Given the description of an element on the screen output the (x, y) to click on. 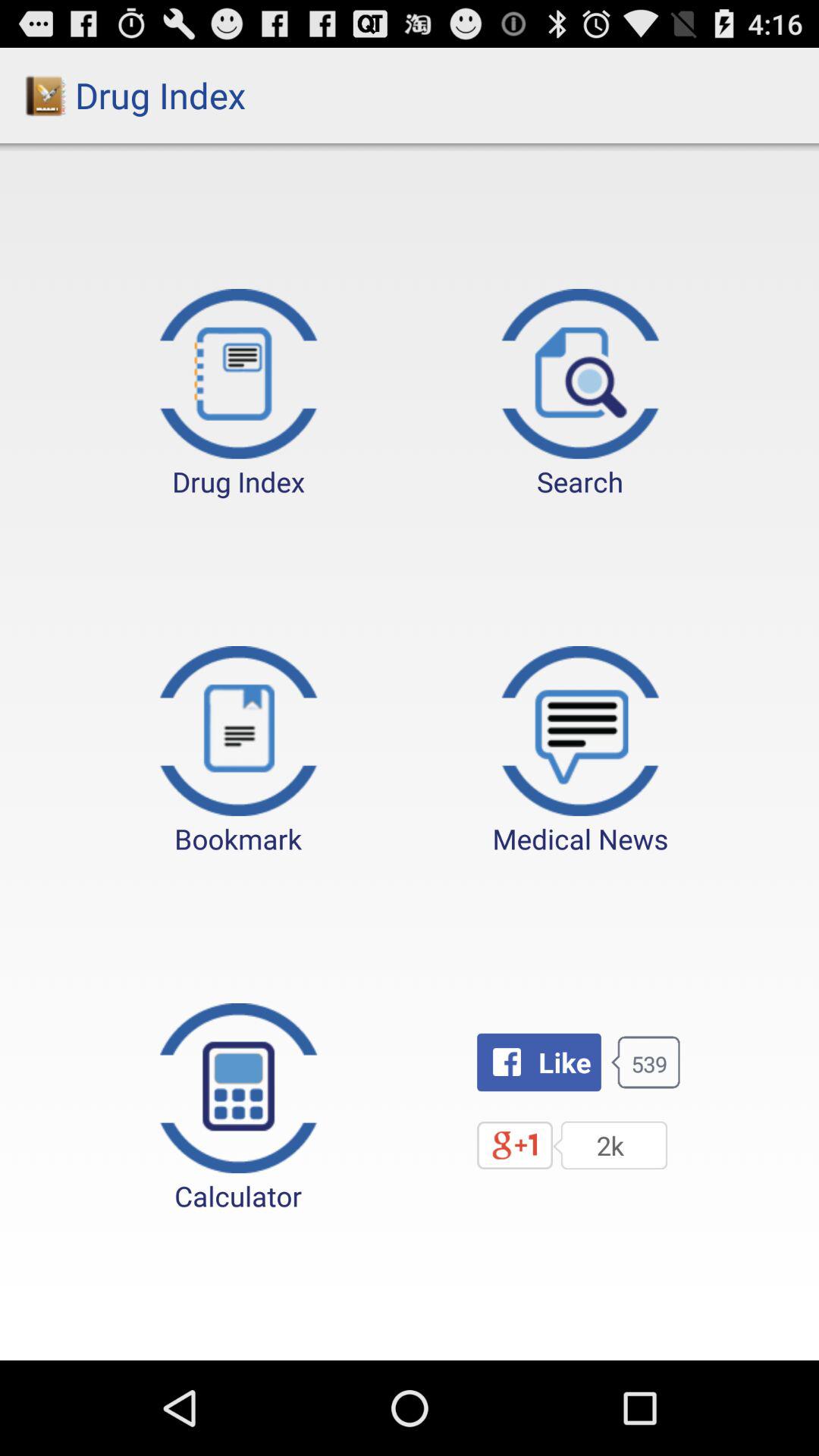
turn on the button to the right of the bookmark icon (580, 751)
